Given the description of an element on the screen output the (x, y) to click on. 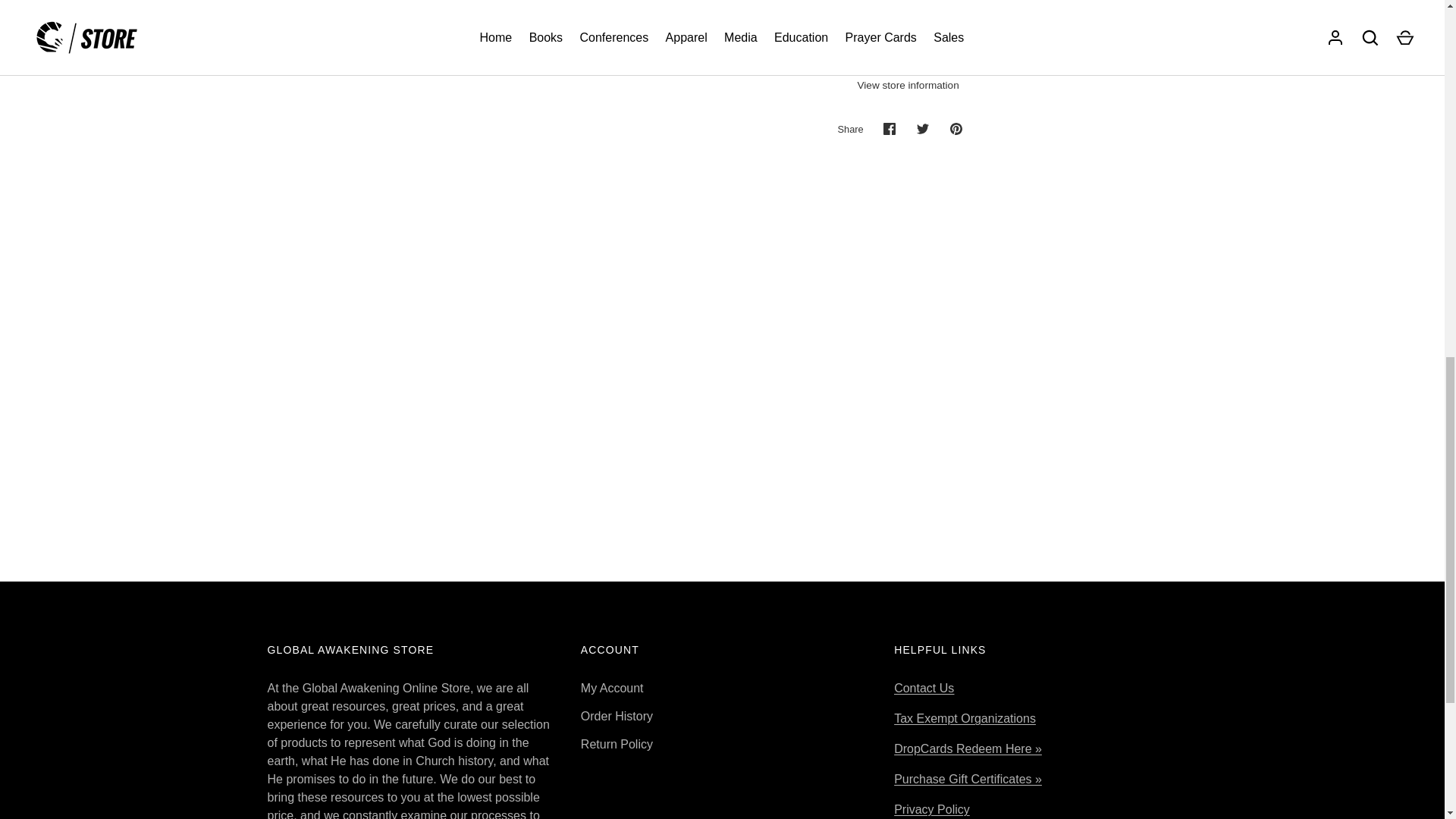
Tax Exempt Organizations (964, 717)
Contact Us (923, 687)
Privacy Policy (931, 809)
Gift Cards (967, 779)
Redeem (967, 748)
